Given the description of an element on the screen output the (x, y) to click on. 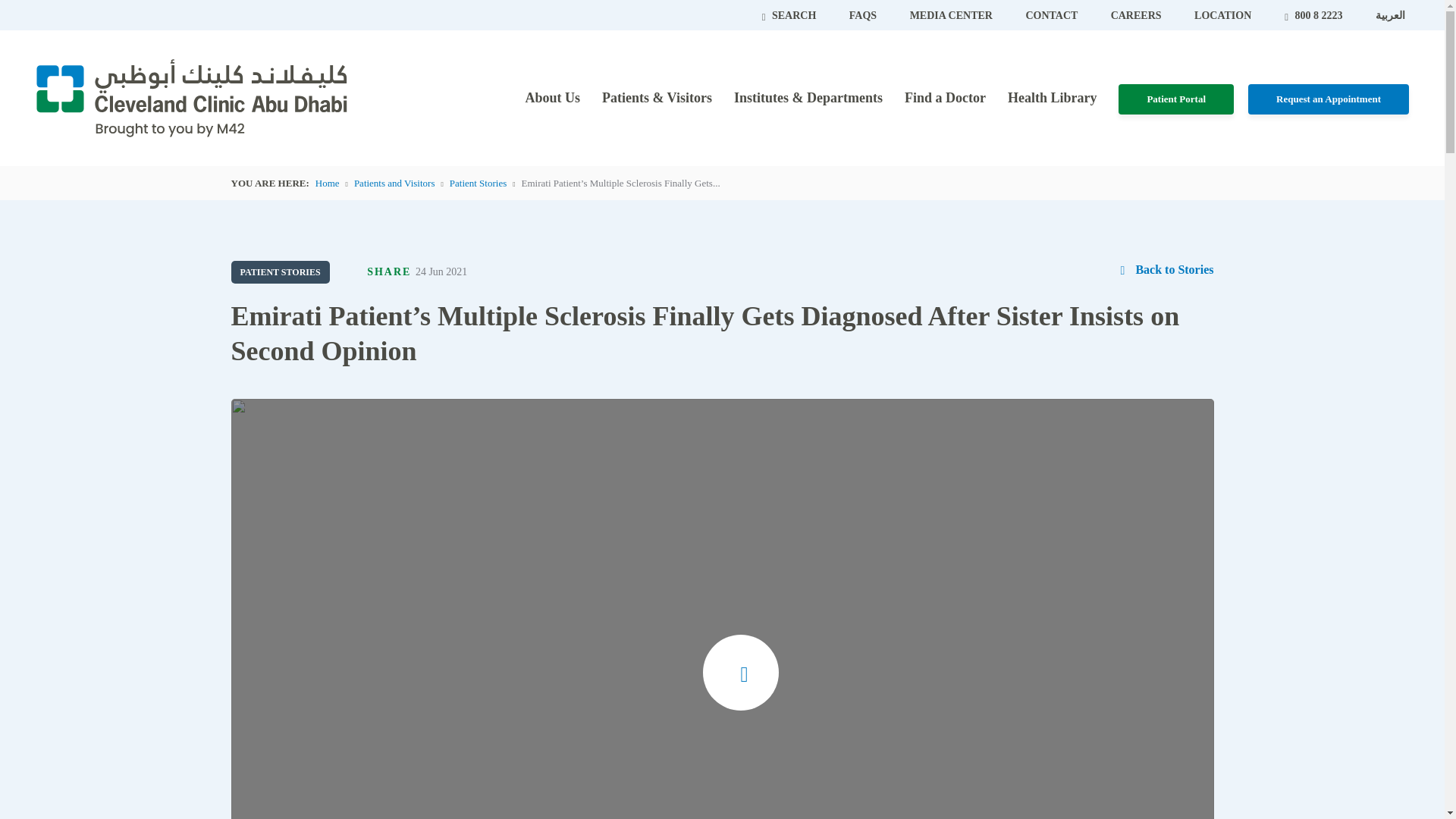
MEDIA CENTER (952, 15)
800 8 2223 (1314, 15)
FAQS (863, 15)
Find a Doctor (944, 97)
About Us (551, 97)
LOCATION (1221, 15)
CONTACT (1052, 15)
SEARCH (789, 15)
CAREERS (1136, 15)
